Given the description of an element on the screen output the (x, y) to click on. 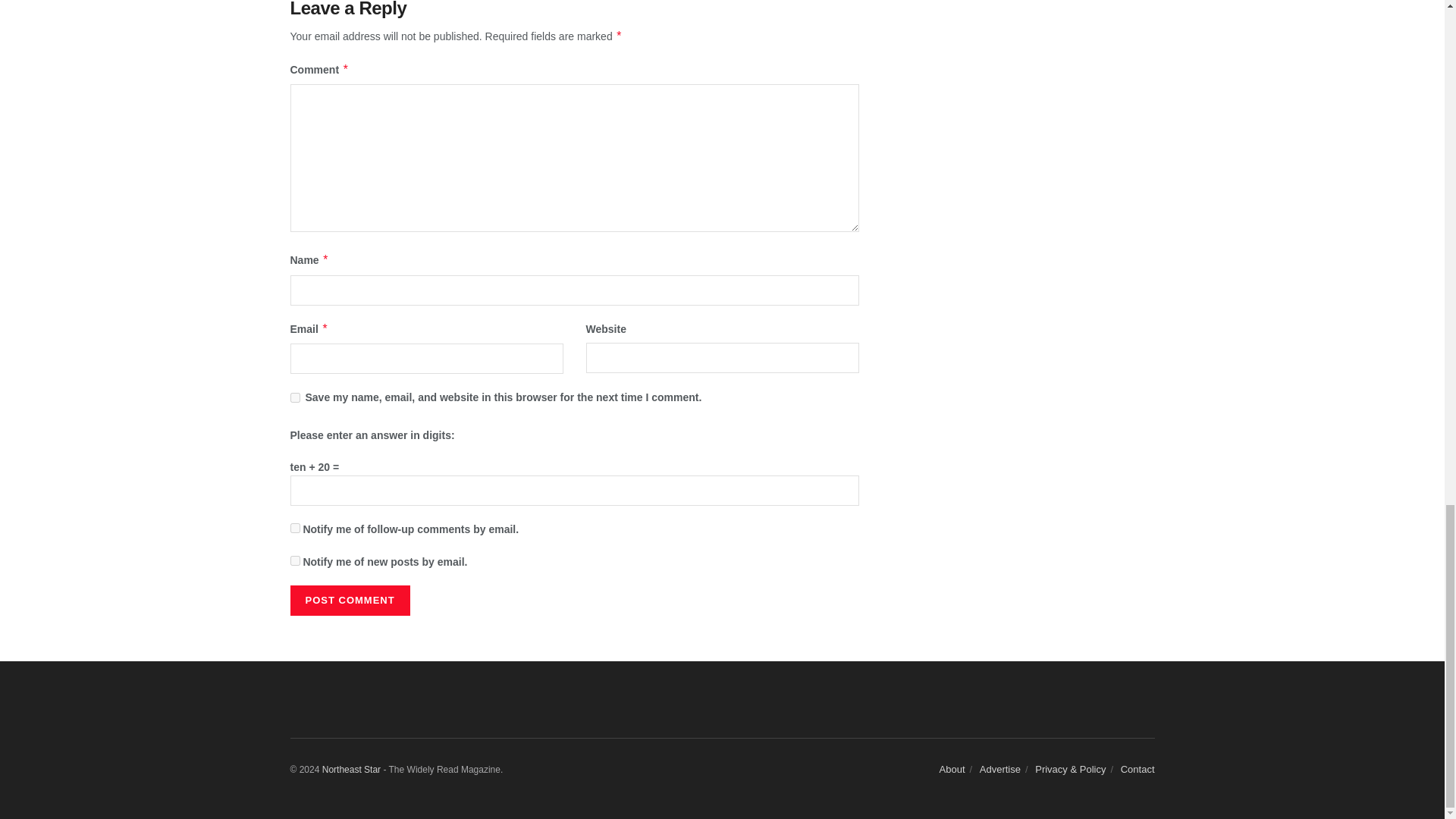
subscribe (294, 560)
subscribe (294, 528)
yes (294, 397)
Post Comment (349, 600)
Northest Star (350, 769)
